Given the description of an element on the screen output the (x, y) to click on. 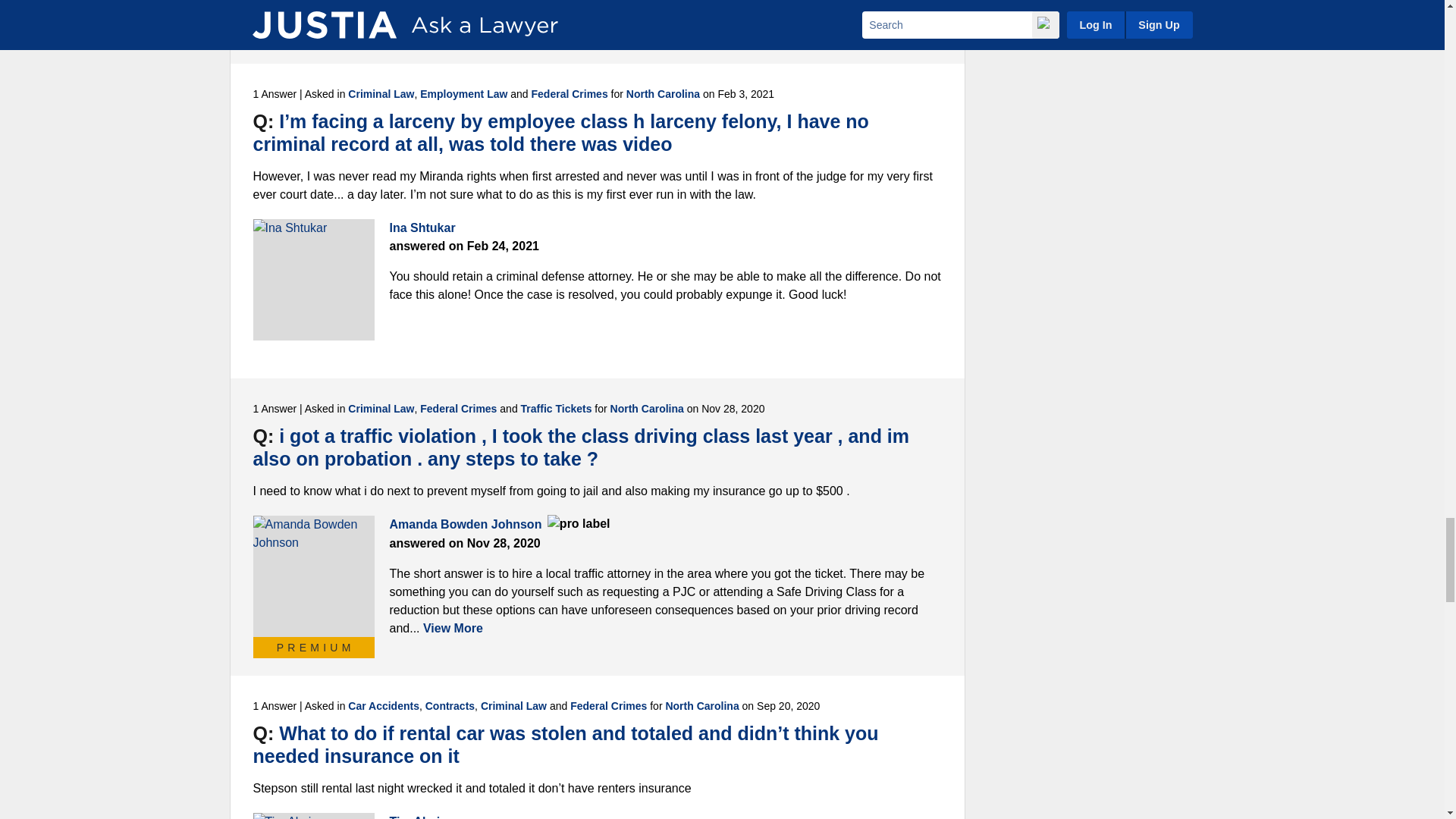
Tim Akpinar (313, 816)
Ina Shtukar (313, 279)
James L. Arrasmith (313, 12)
Amanda Bowden Johnson (313, 576)
